Given the description of an element on the screen output the (x, y) to click on. 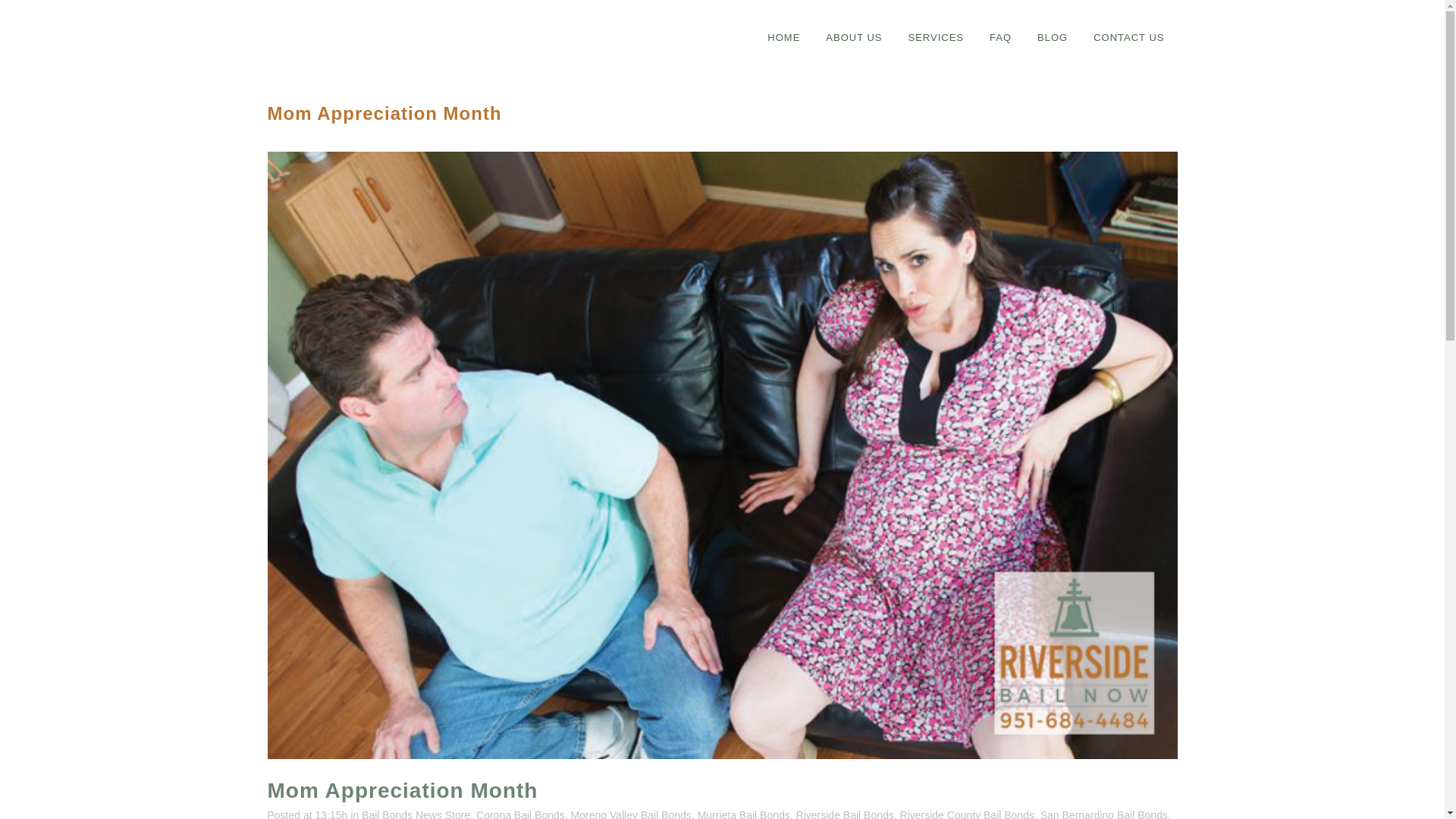
Riverside County Bail Bonds (966, 814)
Moreno Valley Bail Bonds (630, 814)
SERVICES (935, 38)
CONTACT US (1128, 38)
ABOUT US (853, 38)
Corona Bail Bonds (520, 814)
Murrieta Bail Bonds (743, 814)
Bail Bonds News Store (415, 814)
San Bernardino Bail Bonds (1104, 814)
Riverside Bail Bonds (844, 814)
